Given the description of an element on the screen output the (x, y) to click on. 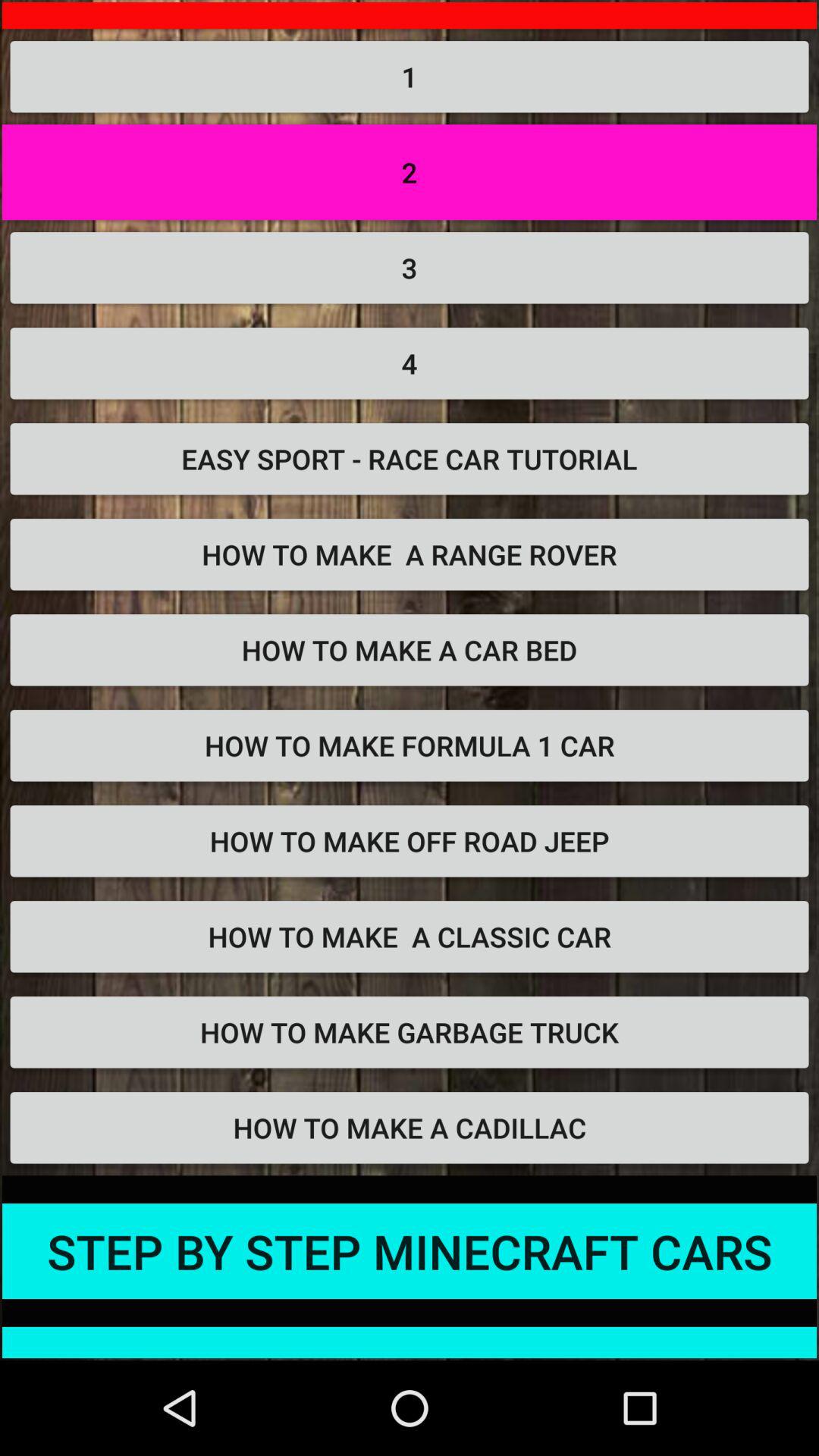
select how to make off road jeep (409, 875)
